Given the description of an element on the screen output the (x, y) to click on. 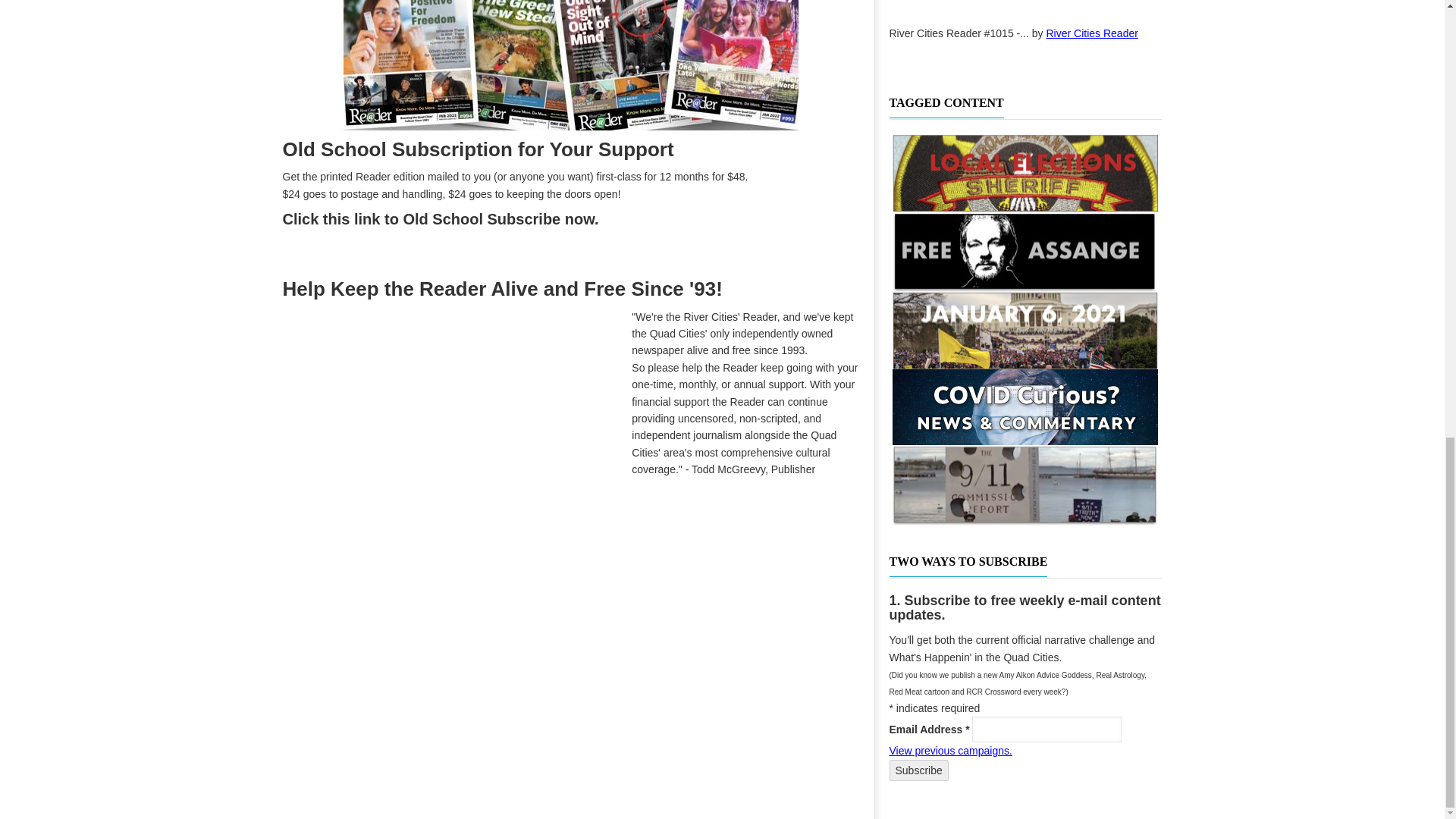
this link to Old School Subscribe now (458, 218)
View previous campaigns (949, 750)
Subscribe (917, 770)
View River Cities Reader's profile on Scribd (1092, 33)
